Given the description of an element on the screen output the (x, y) to click on. 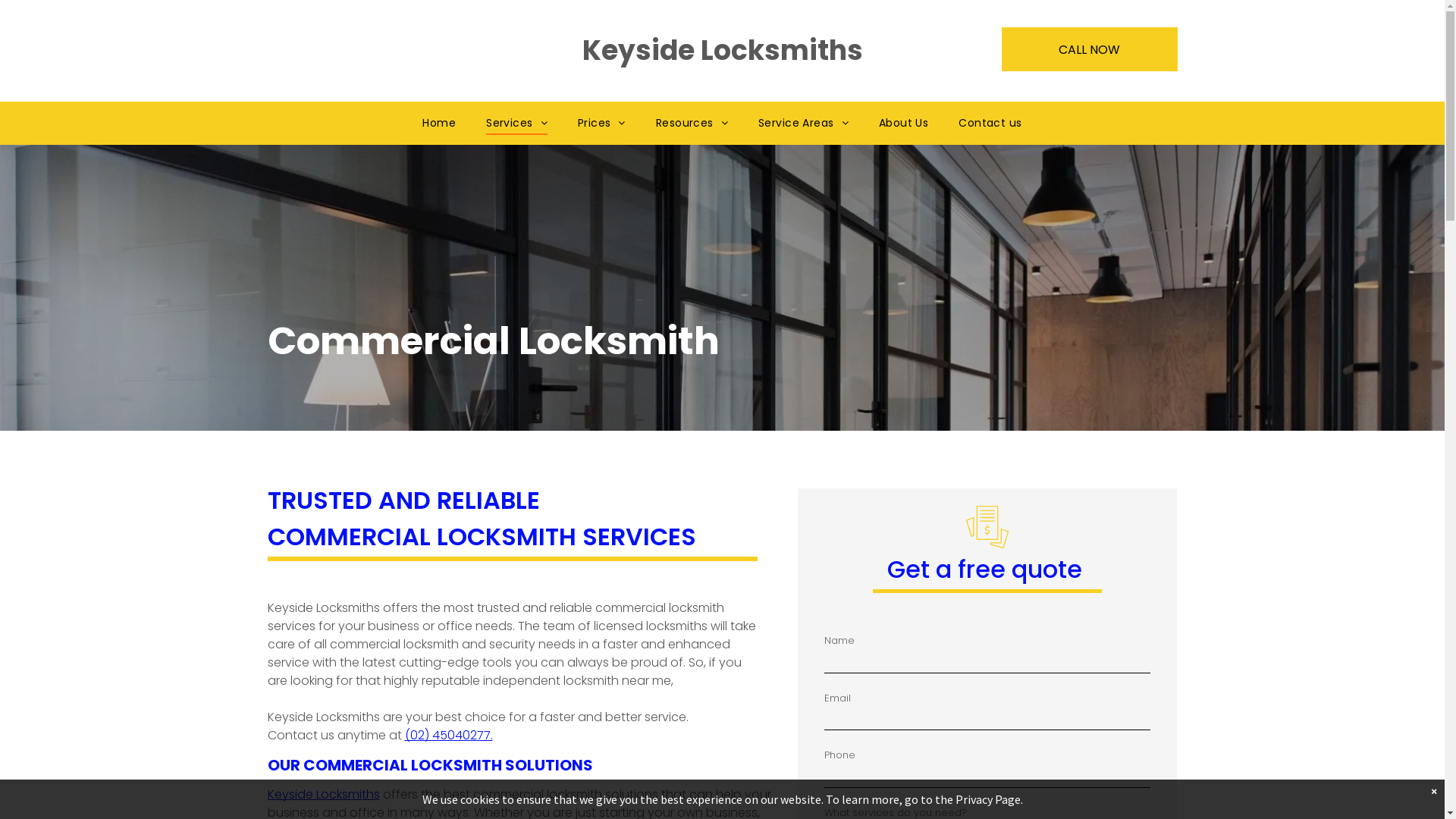
Contact us Element type: text (989, 122)
Keyside Locksmiths Element type: text (322, 794)
(02) 45040277. Element type: text (448, 734)
Prices Element type: text (601, 122)
Services Element type: text (516, 122)
Service Areas Element type: text (803, 122)
About Us Element type: text (903, 122)
CALL NOW Element type: text (1089, 49)
Home Element type: text (438, 122)
Resources Element type: text (691, 122)
